Given the description of an element on the screen output the (x, y) to click on. 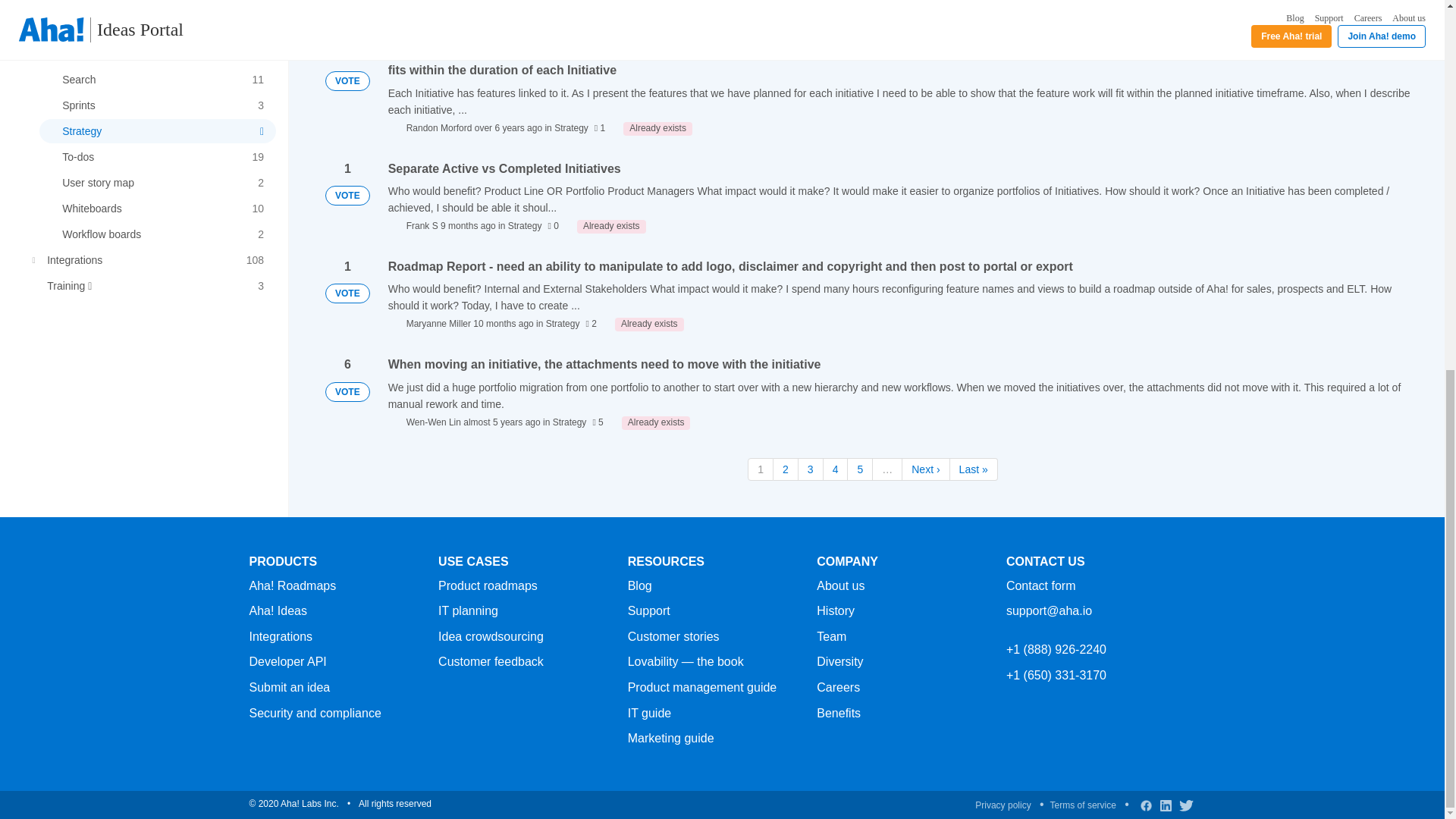
Already exists (649, 324)
Already exists (611, 226)
Already exists (658, 128)
Already exists (655, 422)
Already exists (604, 14)
